Given the description of an element on the screen output the (x, y) to click on. 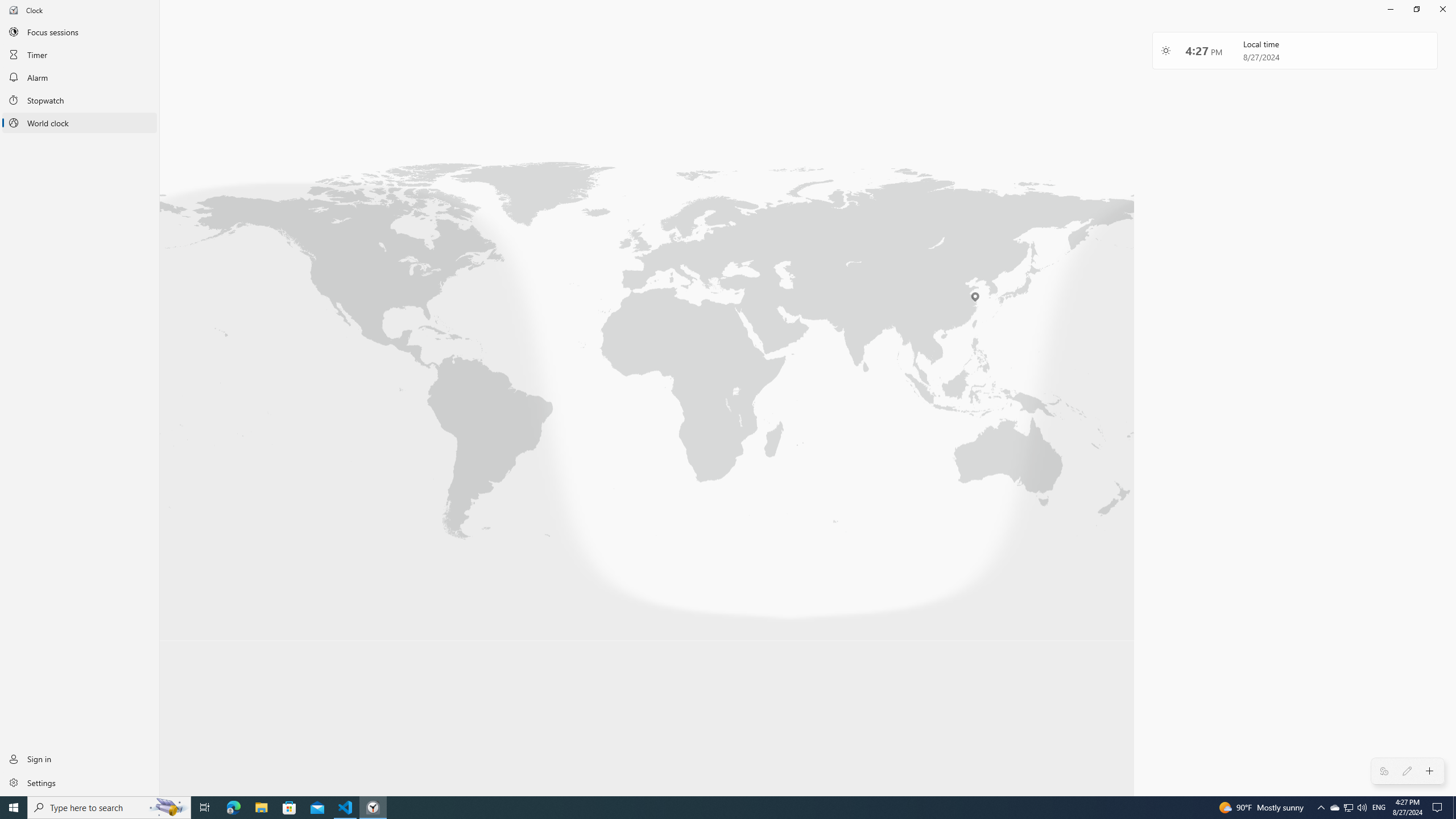
World clock (79, 122)
Compare Time (1384, 770)
Focus sessions (79, 31)
Minimize Clock (1390, 9)
Close Clock (1442, 9)
Running applications (706, 807)
